Given the description of an element on the screen output the (x, y) to click on. 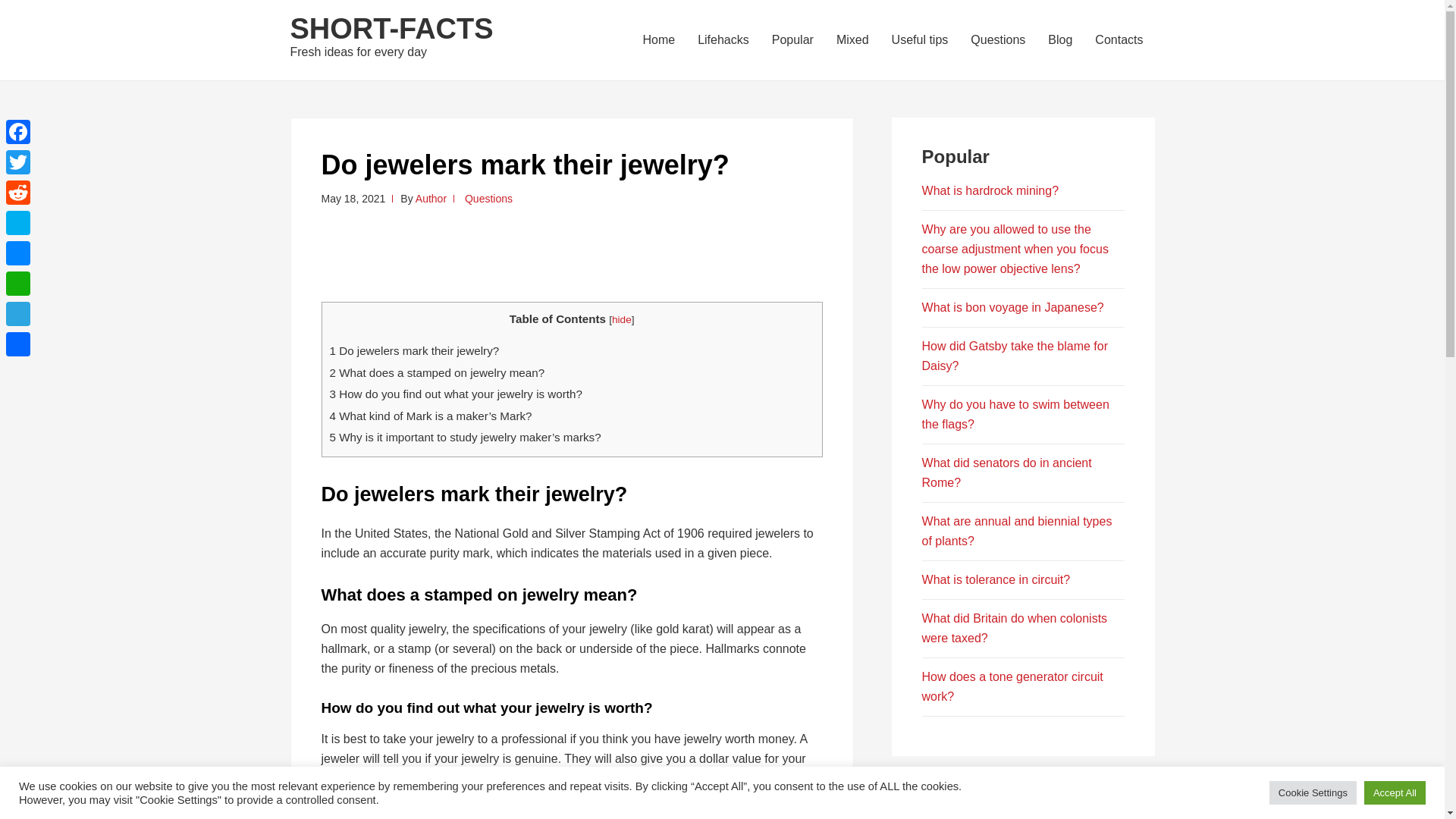
Useful tips (919, 39)
What is tolerance in circuit? (995, 579)
How does a tone generator circuit work? (1012, 686)
Popular (792, 39)
Questions (997, 39)
Messenger (17, 253)
What is hardrock mining? (990, 190)
Lifehacks (722, 39)
SHORT-FACTS (391, 29)
WhatsApp (17, 283)
Home (657, 39)
Why do you have to swim between the flags? (1015, 414)
What did Britain do when colonists were taxed? (1014, 627)
Contacts (1118, 39)
